Given the description of an element on the screen output the (x, y) to click on. 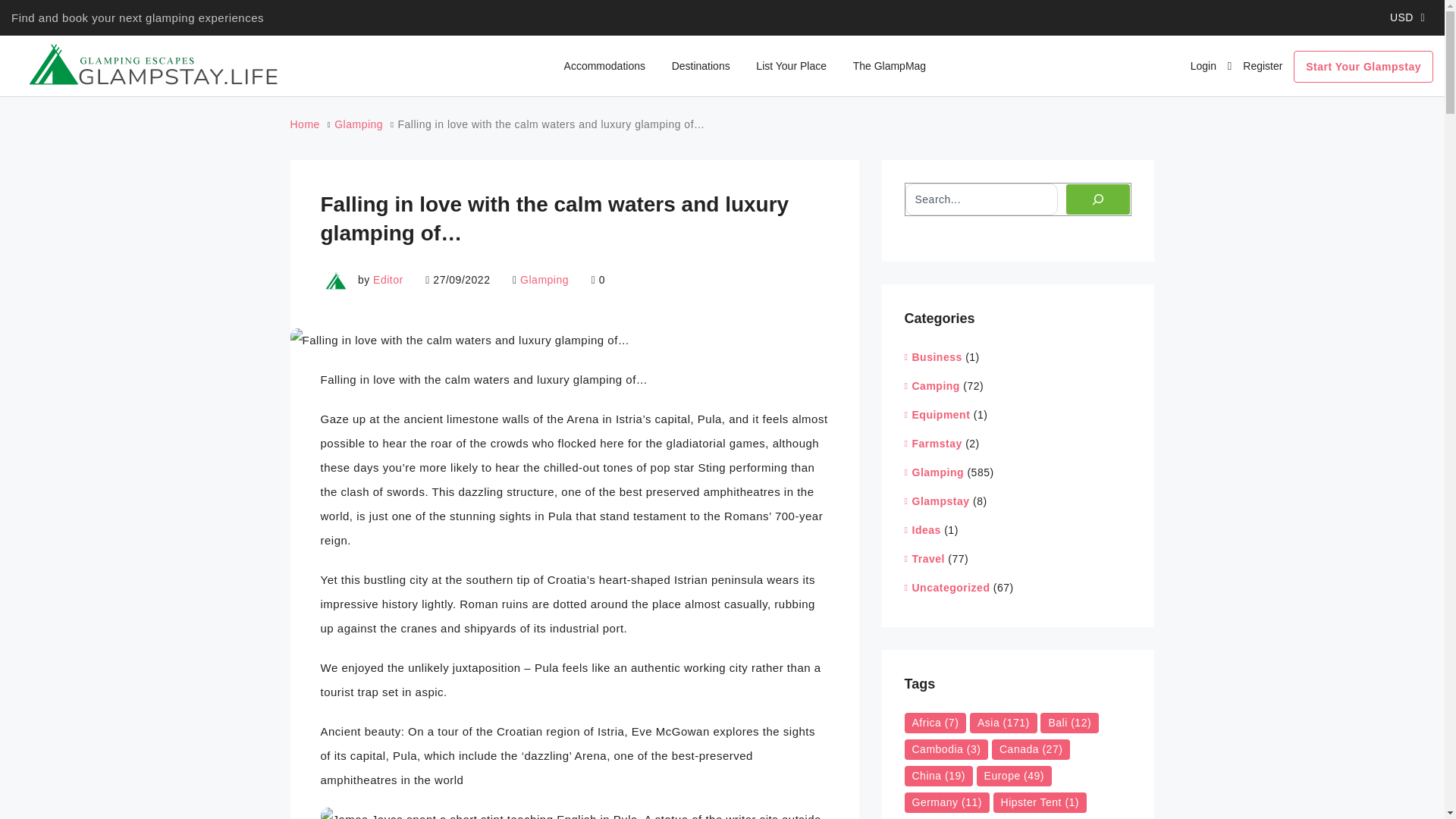
The GlampMag (889, 66)
USD (1406, 18)
Business (932, 357)
Camping (931, 385)
Accommodations (604, 66)
Glamping (358, 123)
Glamping (544, 279)
List Your Place (791, 66)
Editor (387, 279)
Glampstay.life - Glamping escapes for authentic experiences (150, 65)
